Given the description of an element on the screen output the (x, y) to click on. 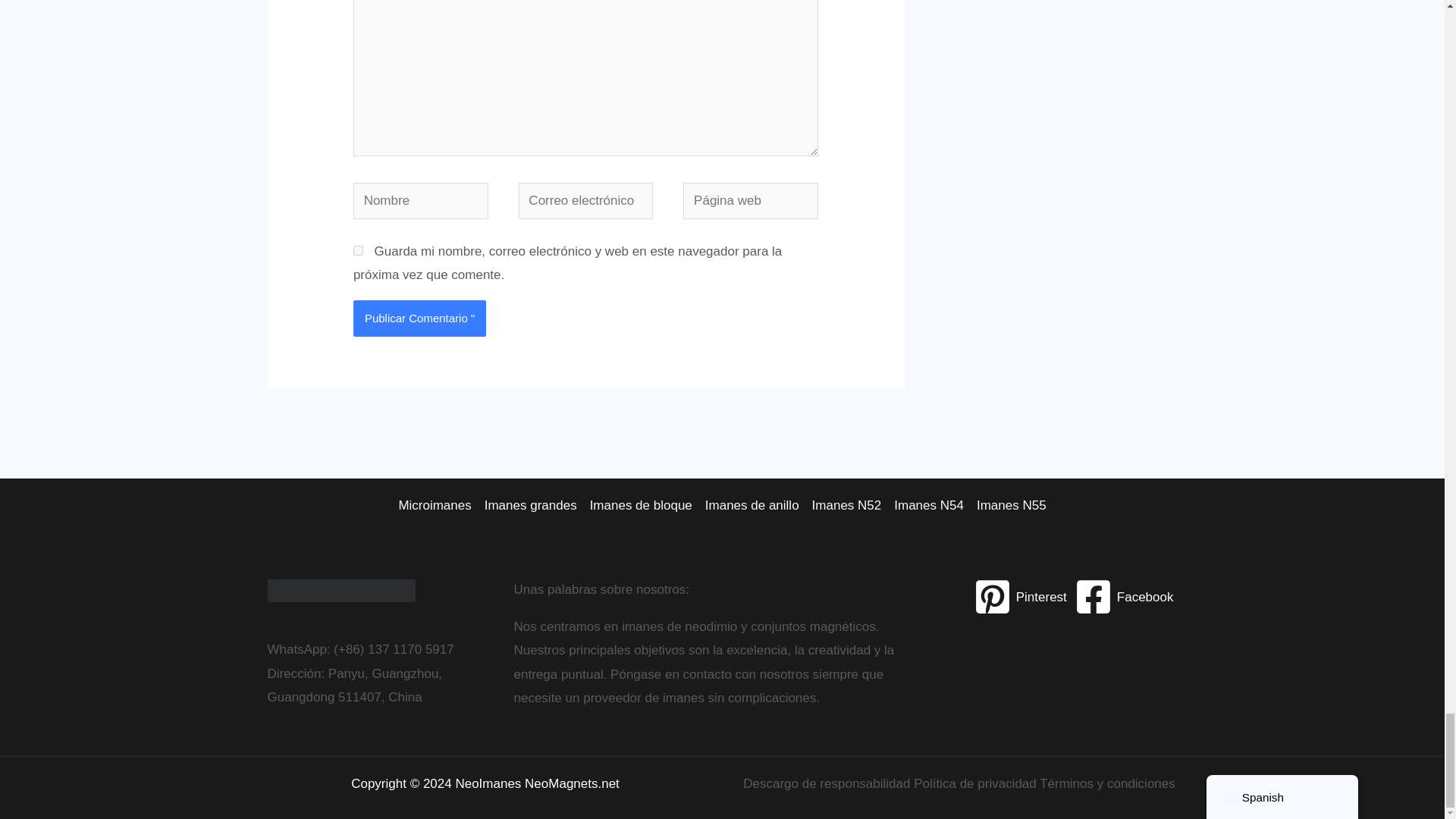
Publicar comentario " (419, 318)
yes (357, 250)
